Given the description of an element on the screen output the (x, y) to click on. 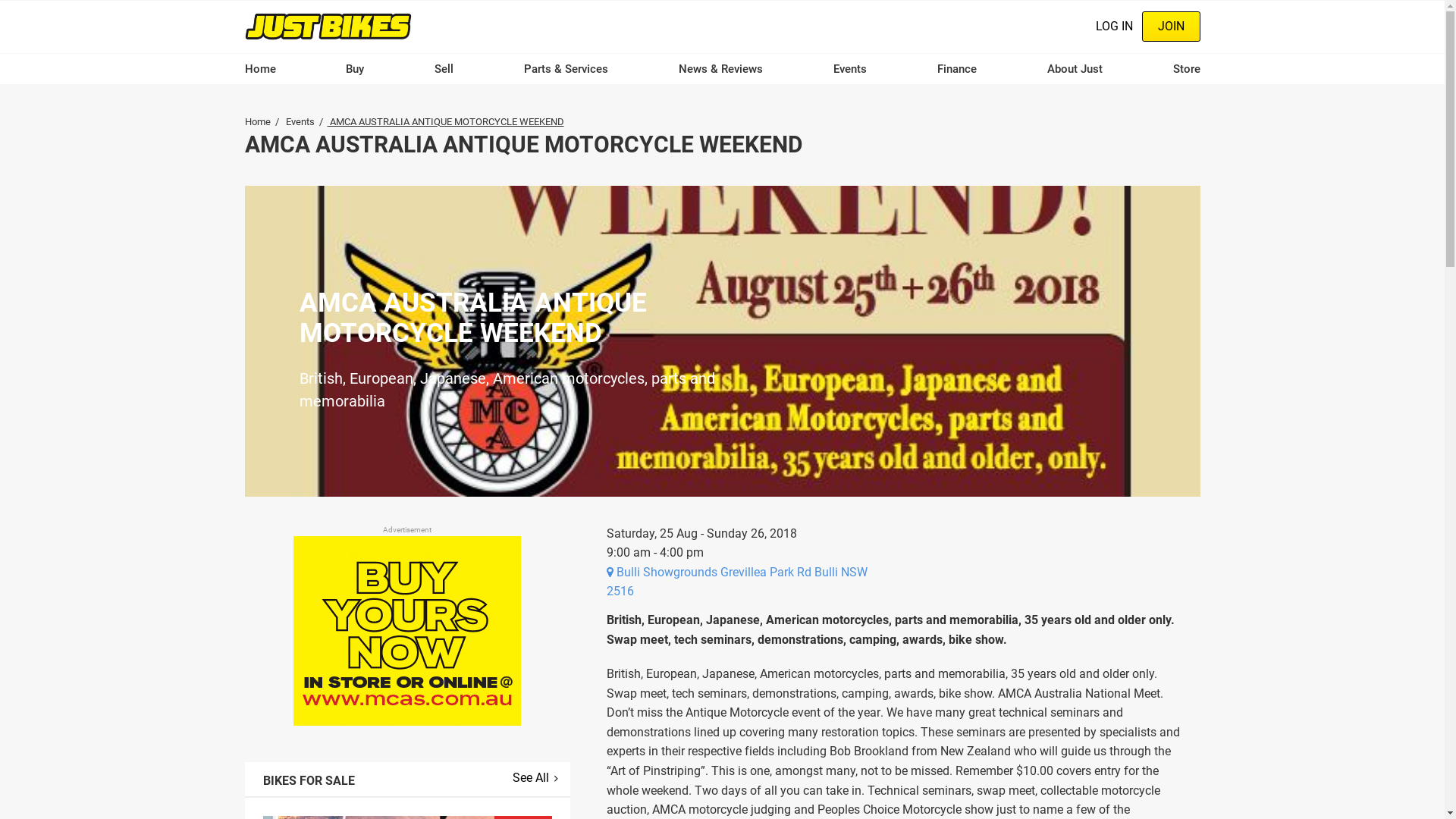
See All Element type: text (535, 777)
Home Element type: hover (327, 25)
Home Element type: text (256, 121)
Buy Element type: text (354, 68)
Events Element type: text (299, 121)
Store Element type: text (1185, 68)
Home Element type: text (259, 68)
Skip to main content Element type: text (0, 0)
Parts & Services Element type: text (566, 68)
LOG IN Element type: text (1113, 26)
JOIN Element type: text (1171, 26)
3rd party ad content Element type: hover (406, 630)
News & Reviews Element type: text (720, 68)
Sell Element type: text (443, 68)
Events Element type: text (849, 68)
Finance Element type: text (956, 68)
Bulli Showgrounds Grevillea Park Rd Bulli NSW 2516 Element type: text (736, 581)
About Just Element type: text (1074, 68)
